Given the description of an element on the screen output the (x, y) to click on. 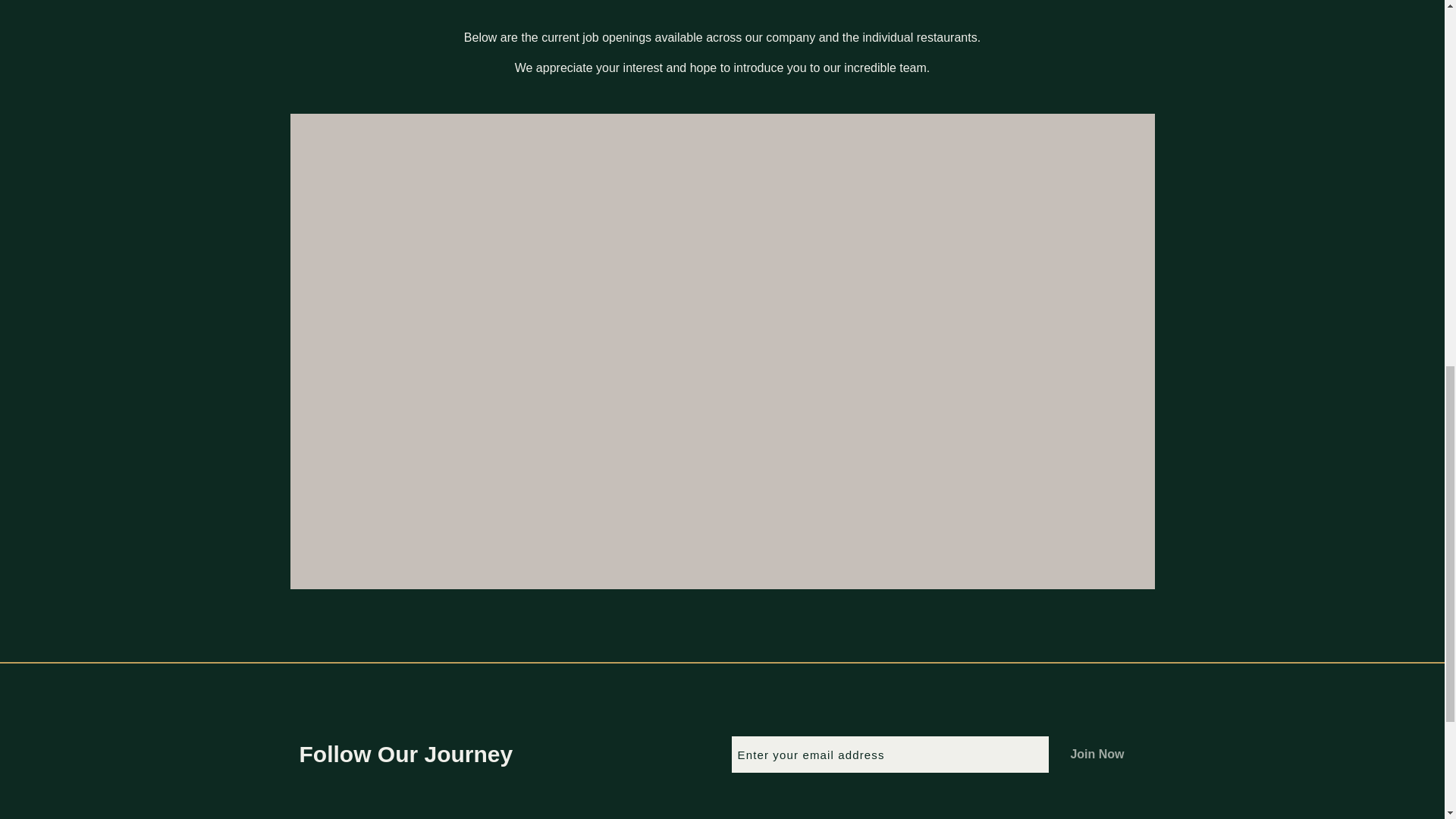
Join Now (1096, 754)
Join Now (1096, 754)
